Given the description of an element on the screen output the (x, y) to click on. 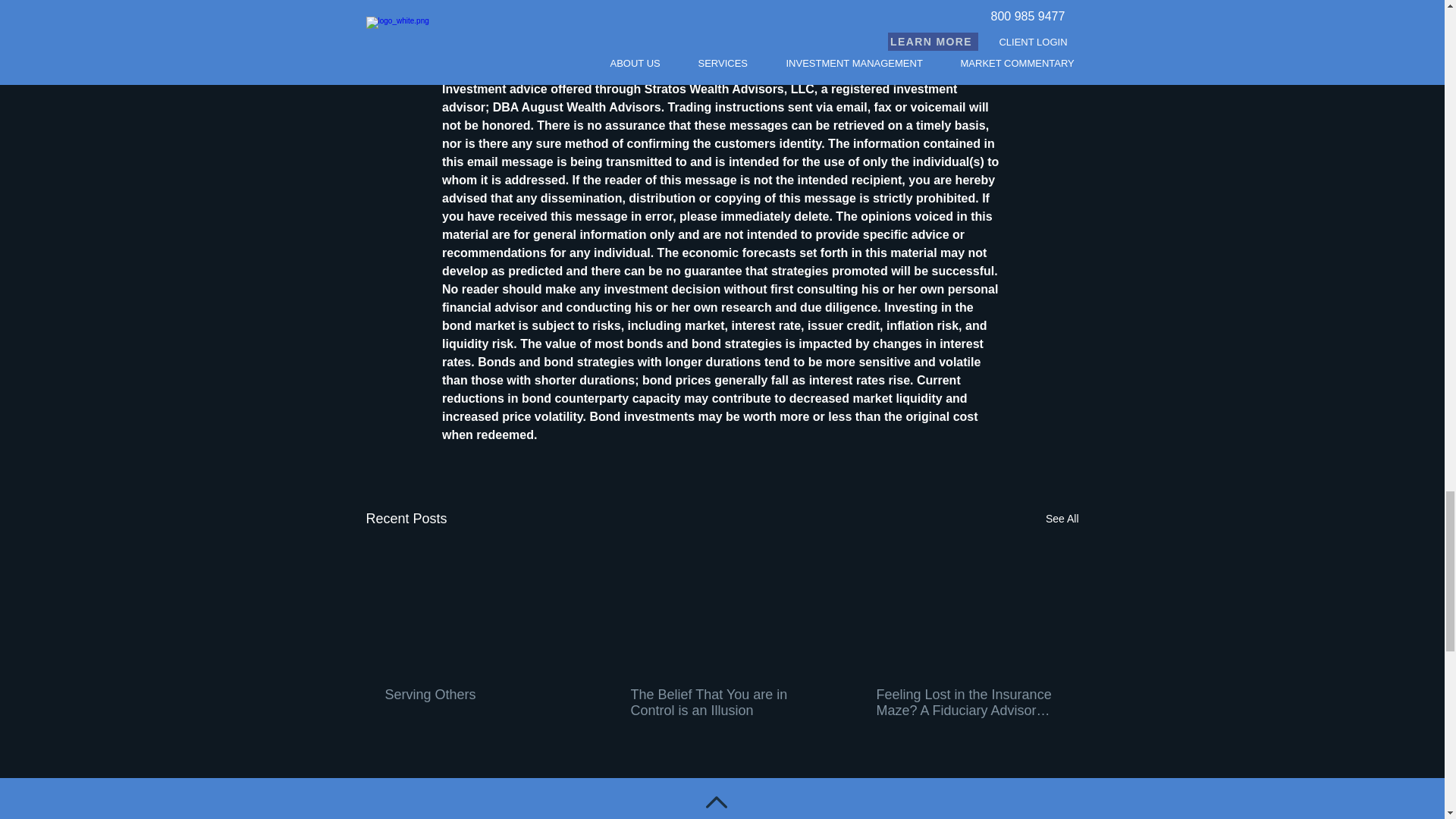
www.augustwealthadvisors.com (534, 51)
Serving Others (476, 694)
The Belief That You are in Control is an Illusion (721, 703)
See All (1061, 518)
